Given the description of an element on the screen output the (x, y) to click on. 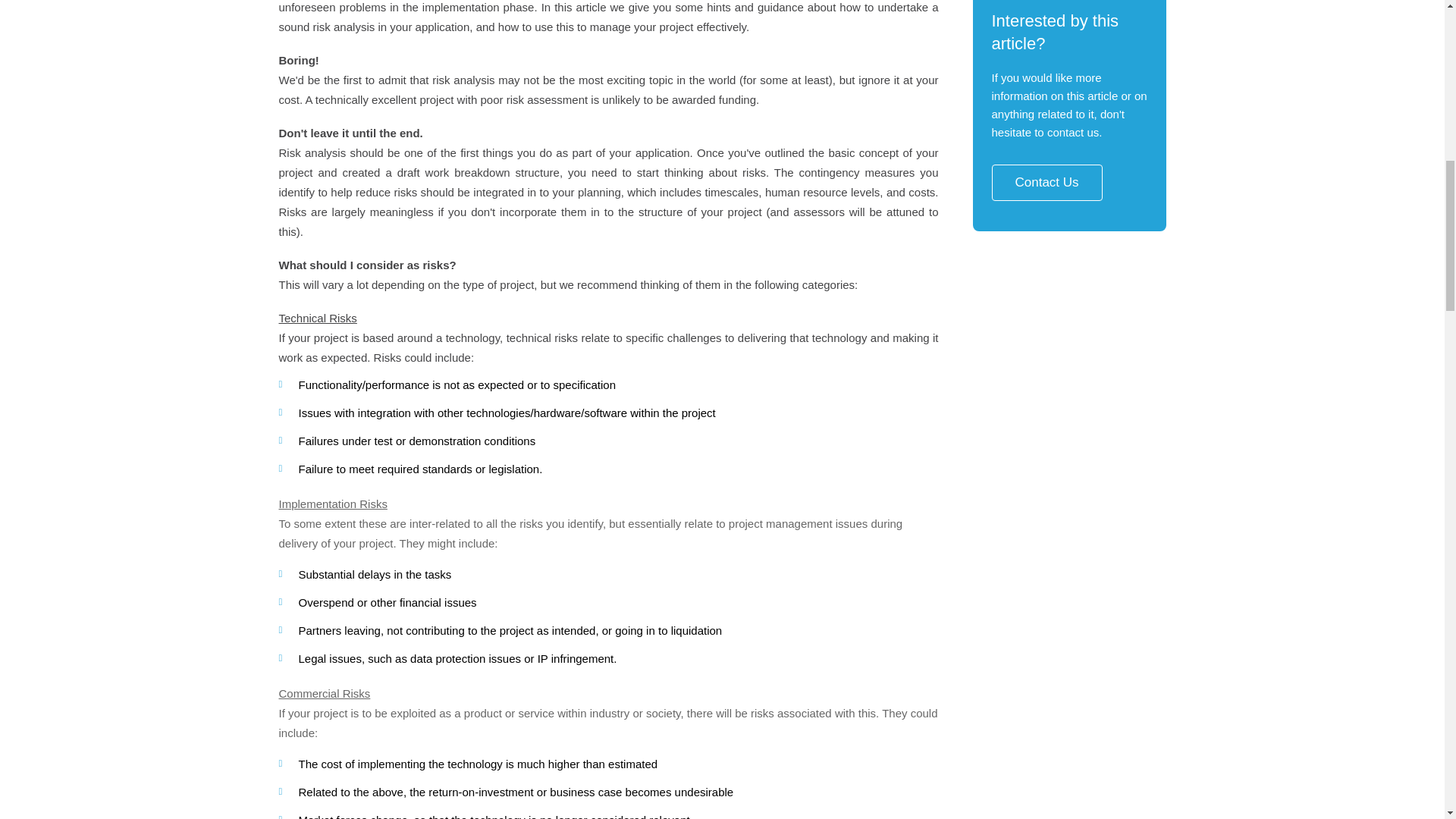
Contact Us (1046, 182)
